Given the description of an element on the screen output the (x, y) to click on. 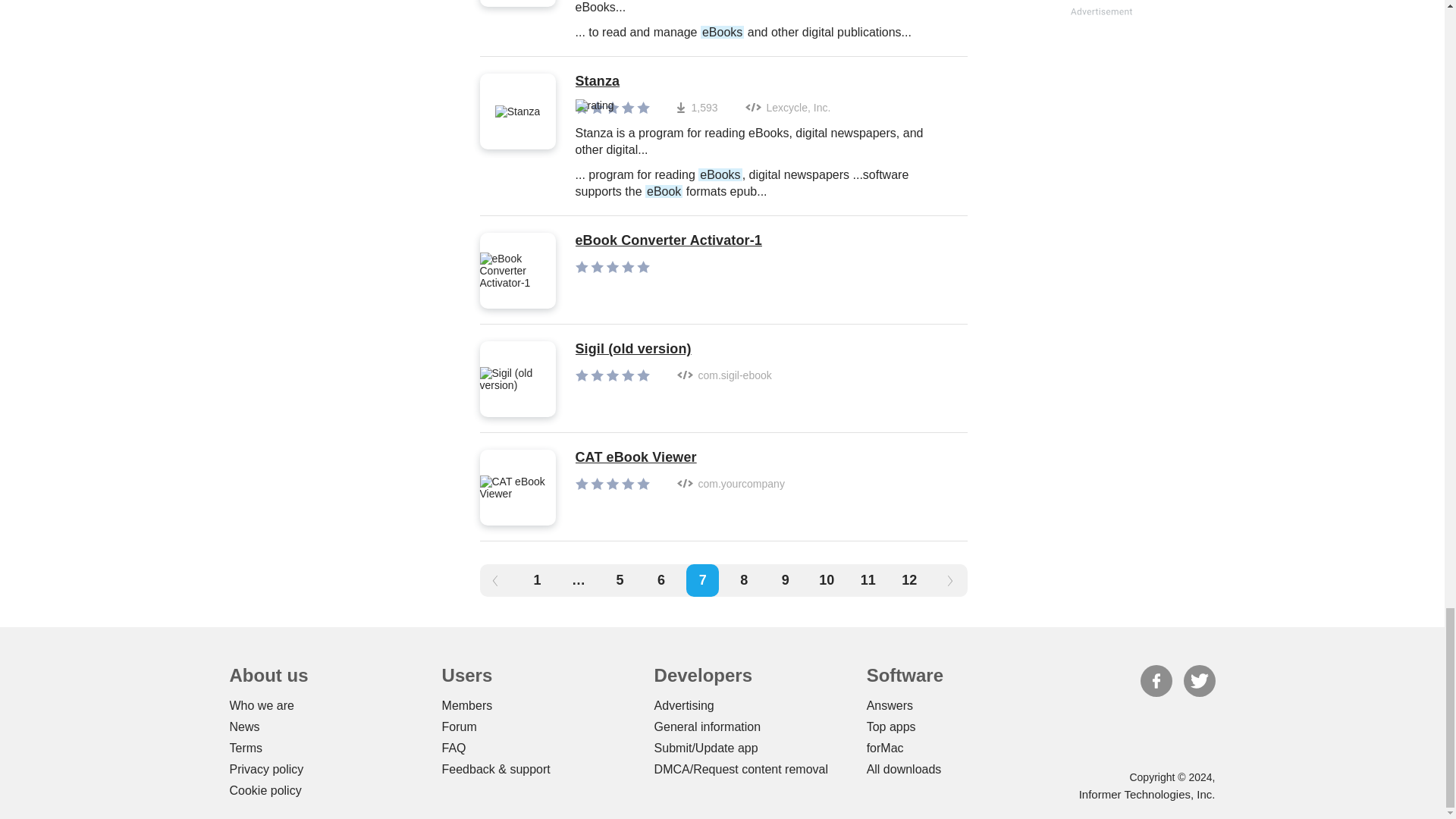
eBook Converter Activator-1 (668, 240)
Stanza (763, 81)
